Given the description of an element on the screen output the (x, y) to click on. 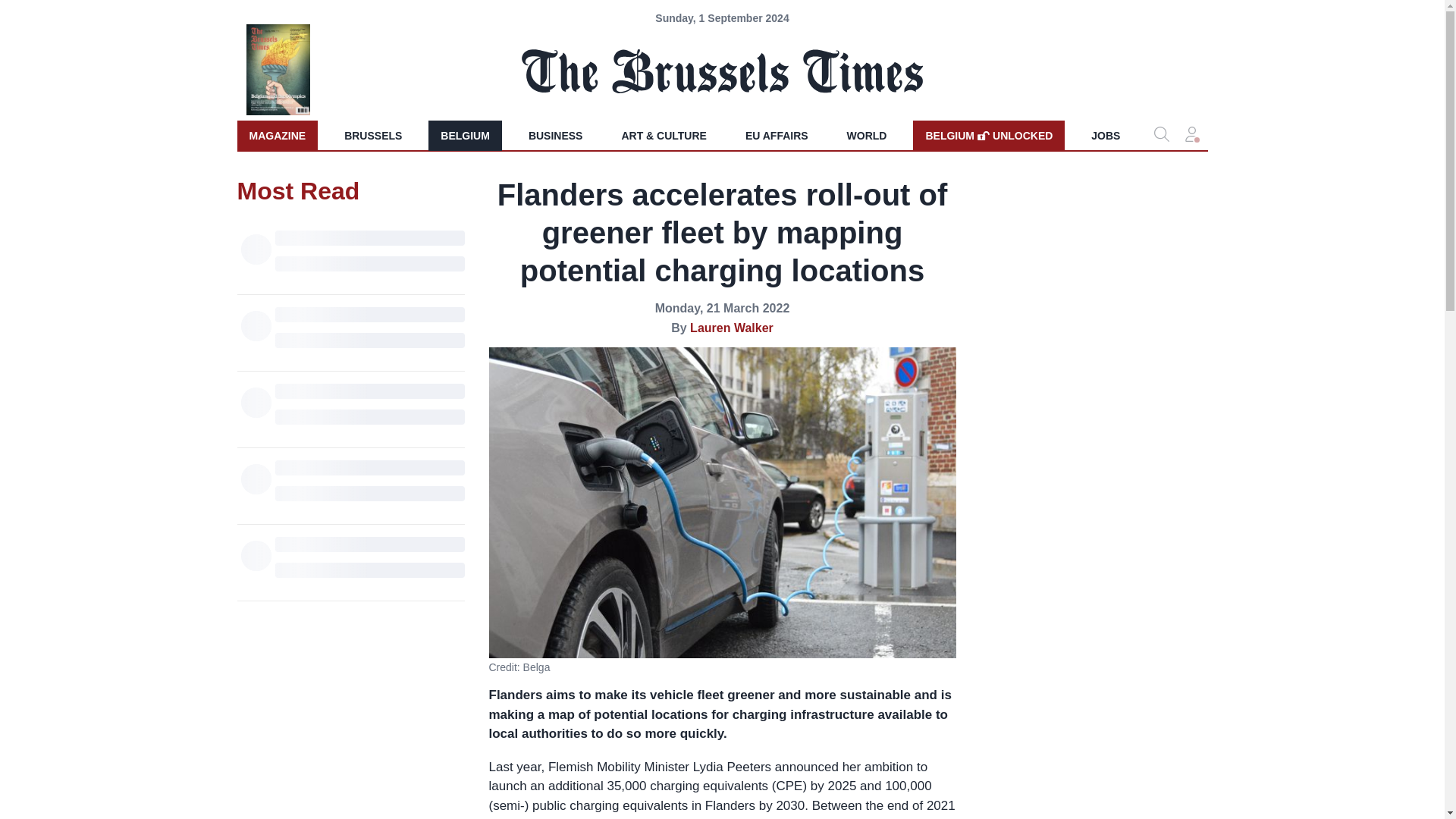
EU AFFAIRS (777, 135)
WORLD (866, 135)
Lauren Walker (731, 327)
BELGIUM (465, 135)
JOBS (1105, 135)
BRUSSELS (988, 135)
BUSINESS (372, 135)
MAGAZINE (555, 135)
